Given the description of an element on the screen output the (x, y) to click on. 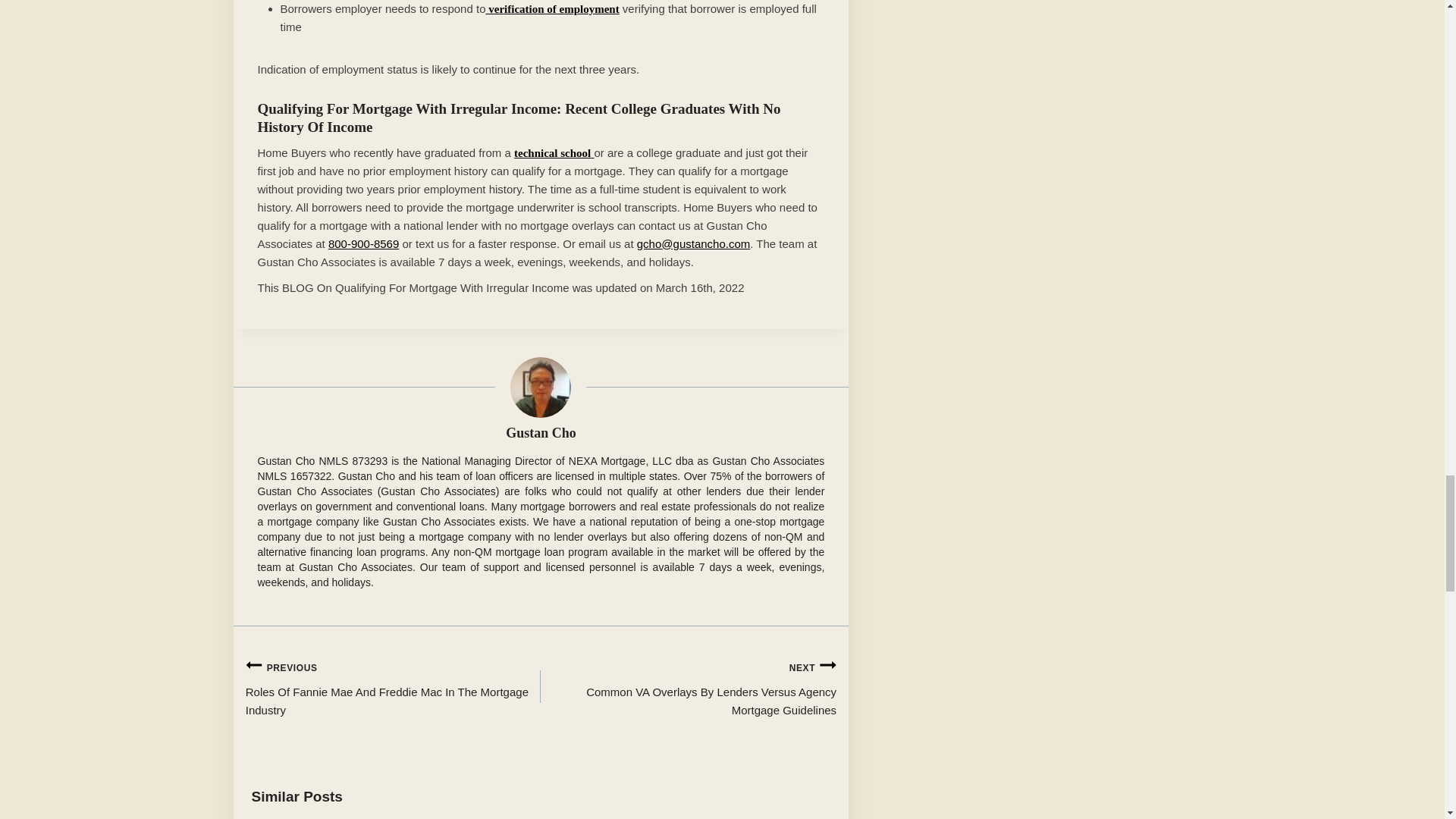
Posts by Gustan Cho (540, 432)
